Given the description of an element on the screen output the (x, y) to click on. 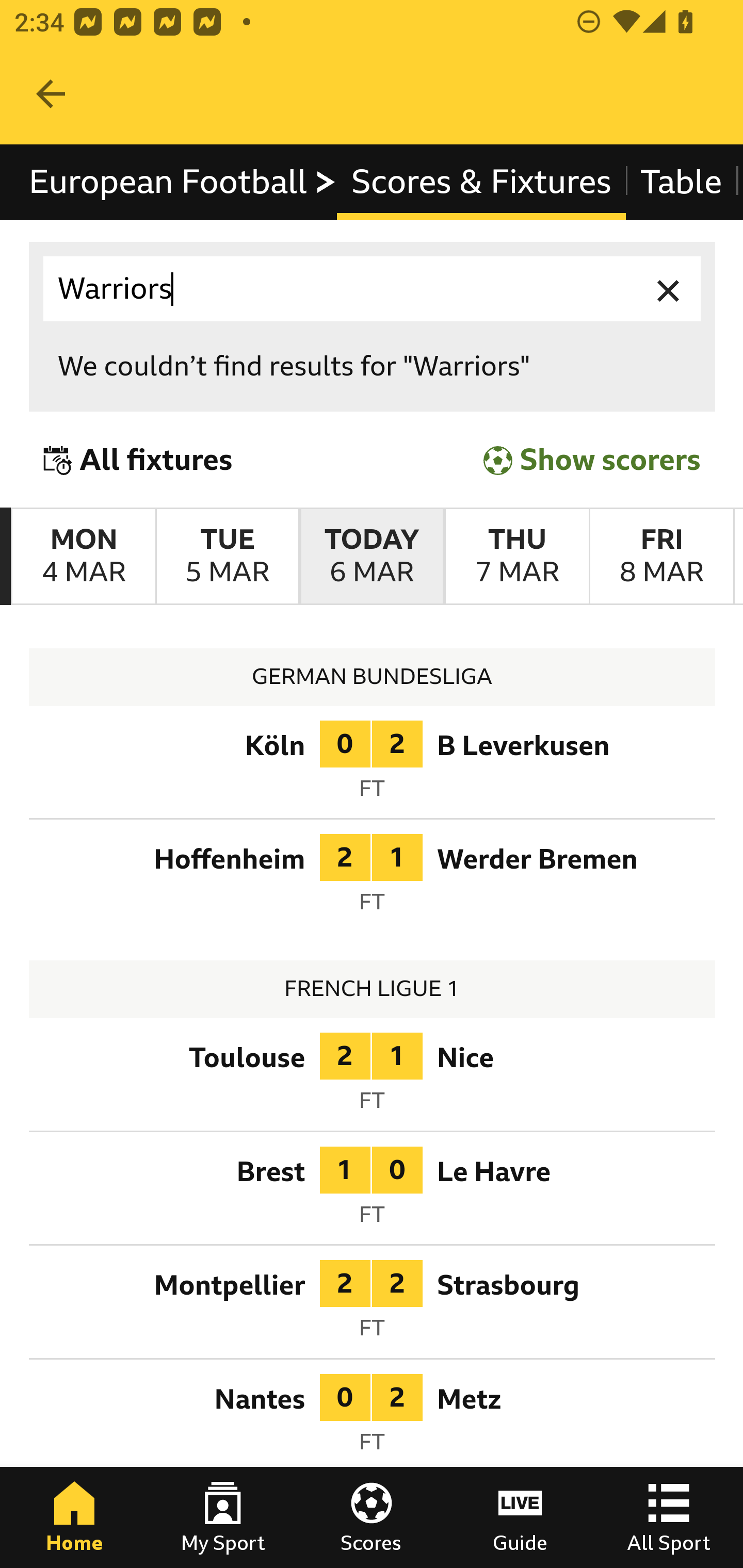
Navigate up (50, 93)
European Football  (182, 181)
Scores & Fixtures (480, 181)
Table (681, 181)
Warriors (372, 289)
Clear input (669, 289)
All fixtures (137, 459)
Show scorers (591, 459)
MondayMarch 4th Monday March 4th (83, 557)
TuesdayMarch 5th Tuesday March 5th (227, 557)
TodayMarch 6th Today March 6th (371, 557)
ThursdayMarch 7th Thursday March 7th (516, 557)
FridayMarch 8th Friday March 8th (661, 557)
My Sport (222, 1517)
Scores (371, 1517)
Guide (519, 1517)
All Sport (668, 1517)
